Given the description of an element on the screen output the (x, y) to click on. 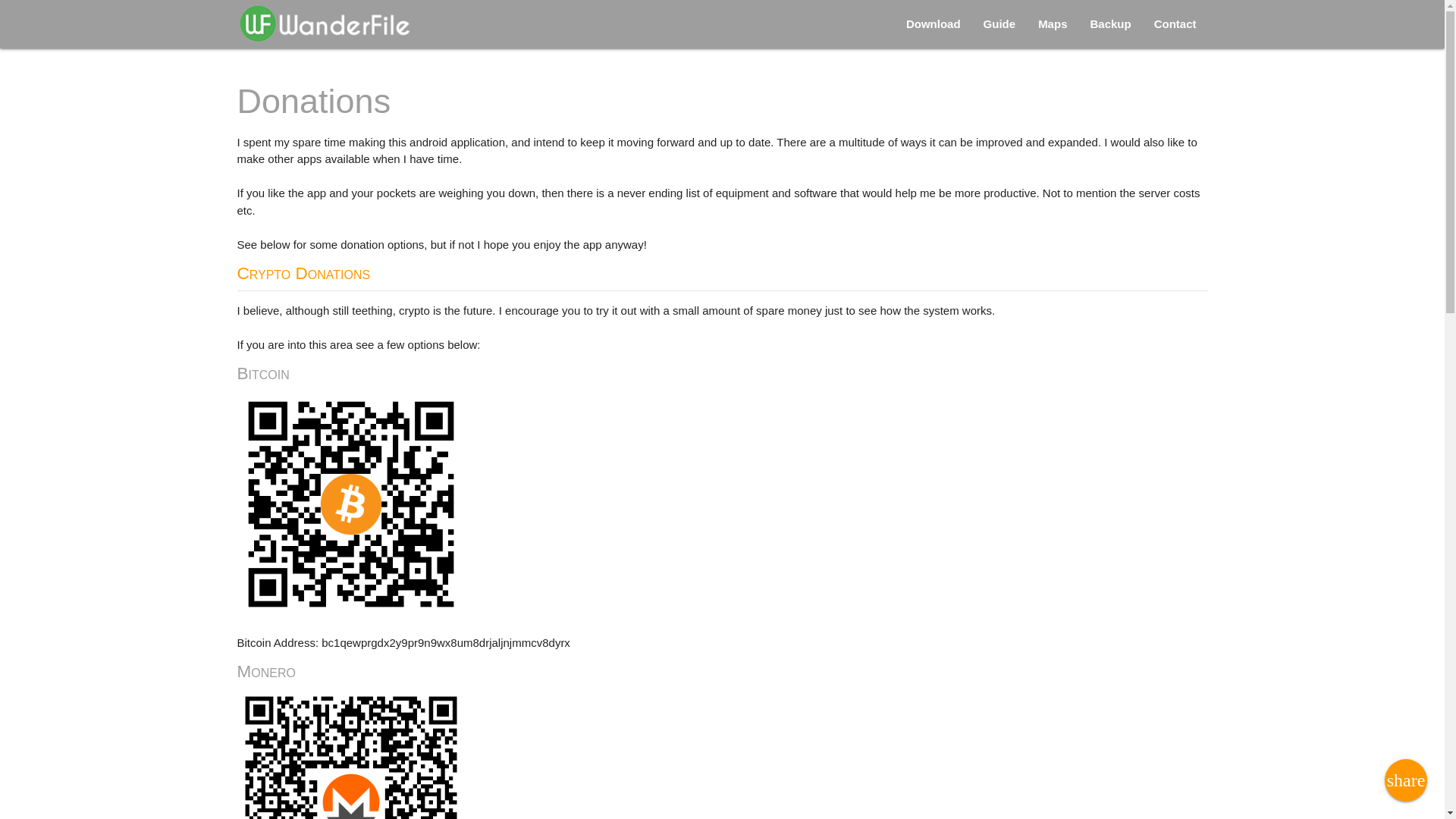
Backup (1109, 24)
Download (933, 24)
Contact (1175, 24)
share (1405, 780)
Maps (1052, 24)
Guide (999, 24)
